Given the description of an element on the screen output the (x, y) to click on. 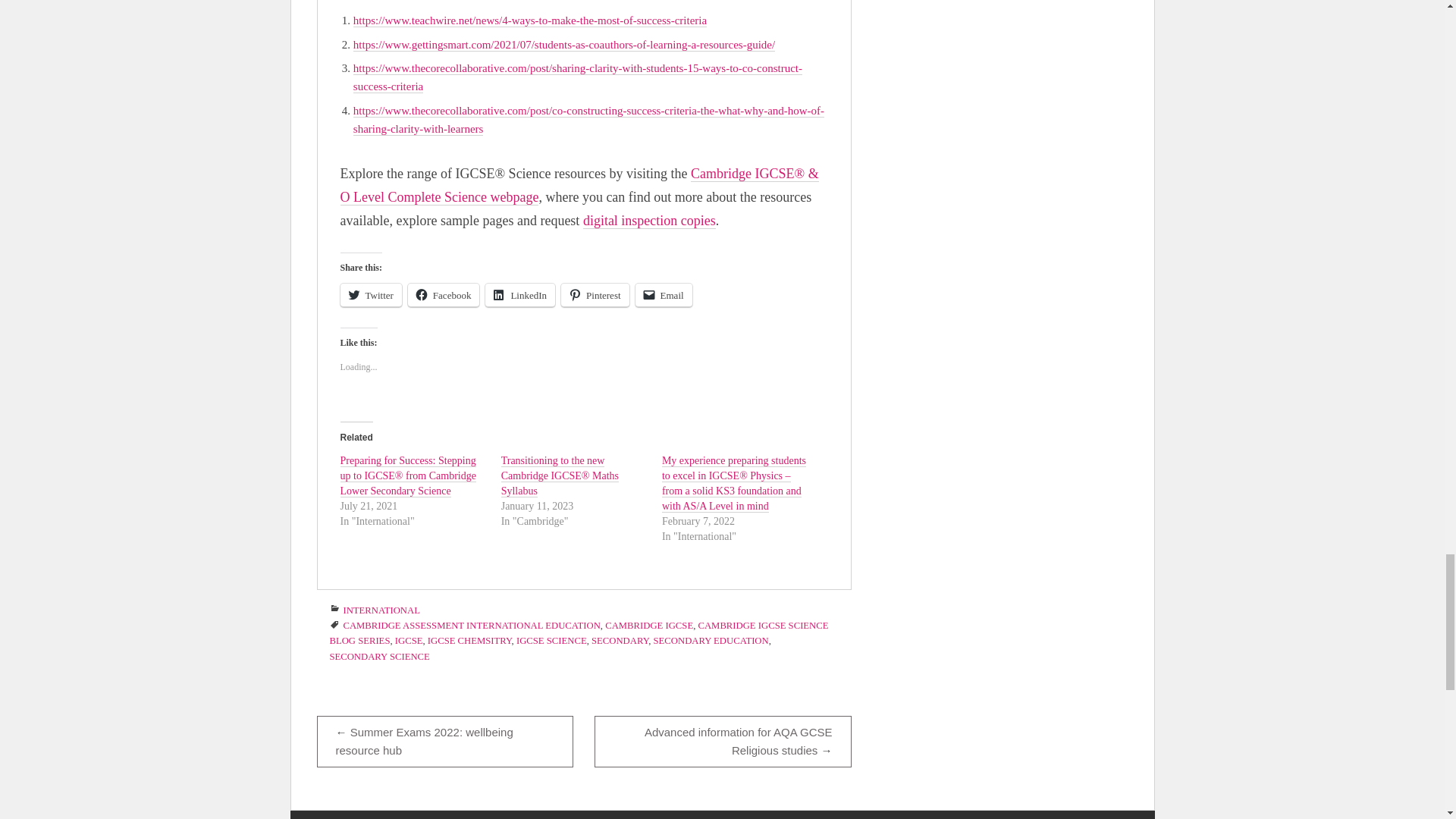
digital inspection copies (649, 220)
Email (663, 295)
Twitter (370, 295)
Facebook (443, 295)
Click to share on Pinterest (594, 295)
Click to email a link to a friend (663, 295)
LinkedIn (519, 295)
Click to share on Twitter (370, 295)
Pinterest (594, 295)
Click to share on Facebook (443, 295)
Click to share on LinkedIn (519, 295)
